Given the description of an element on the screen output the (x, y) to click on. 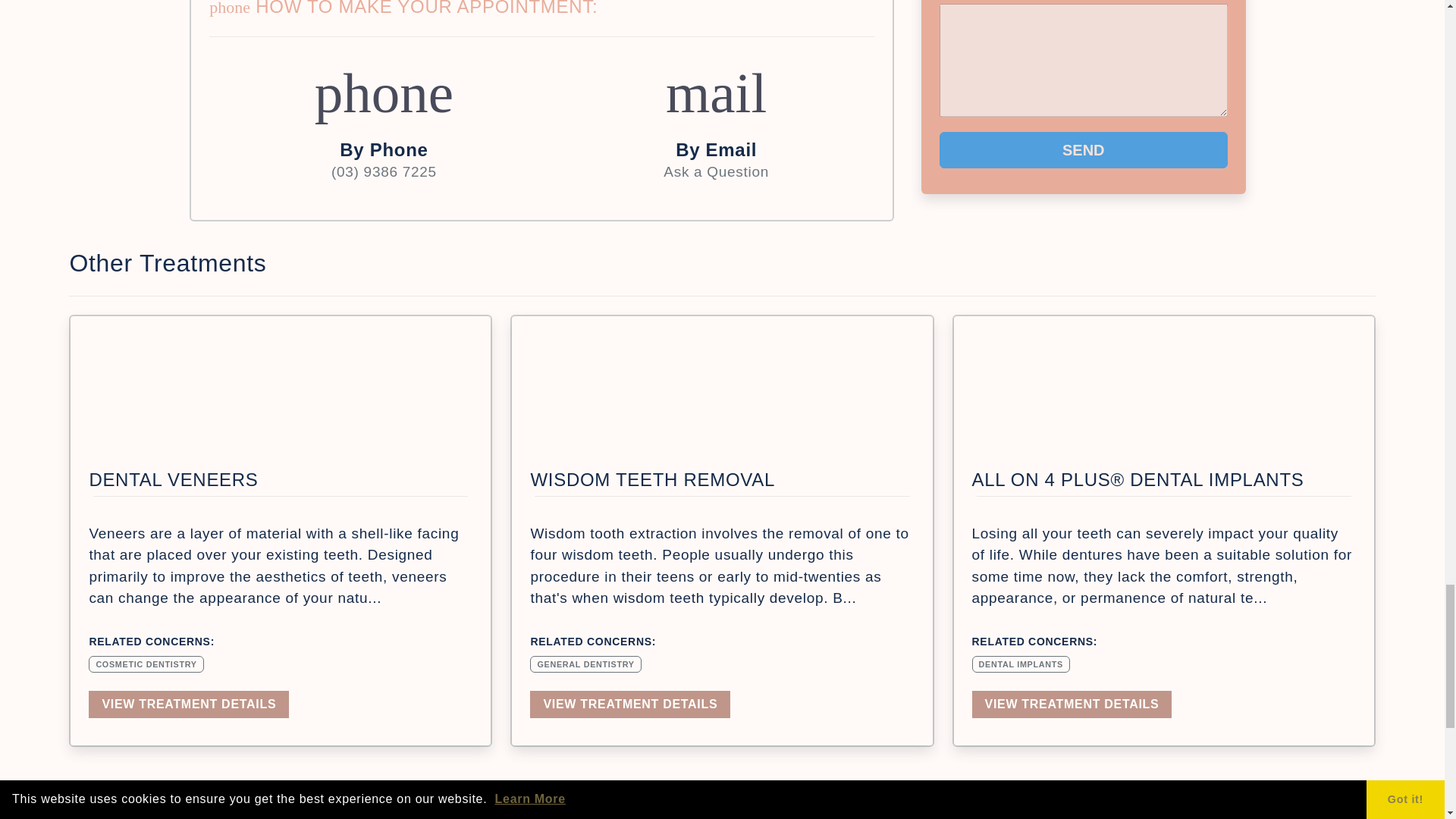
GENERAL DENTISTRY (584, 662)
COSMETIC DENTISTRY (145, 662)
VIEW TREATMENT DETAILS (629, 704)
VIEW TREATMENT DETAILS (716, 122)
